Given the description of an element on the screen output the (x, y) to click on. 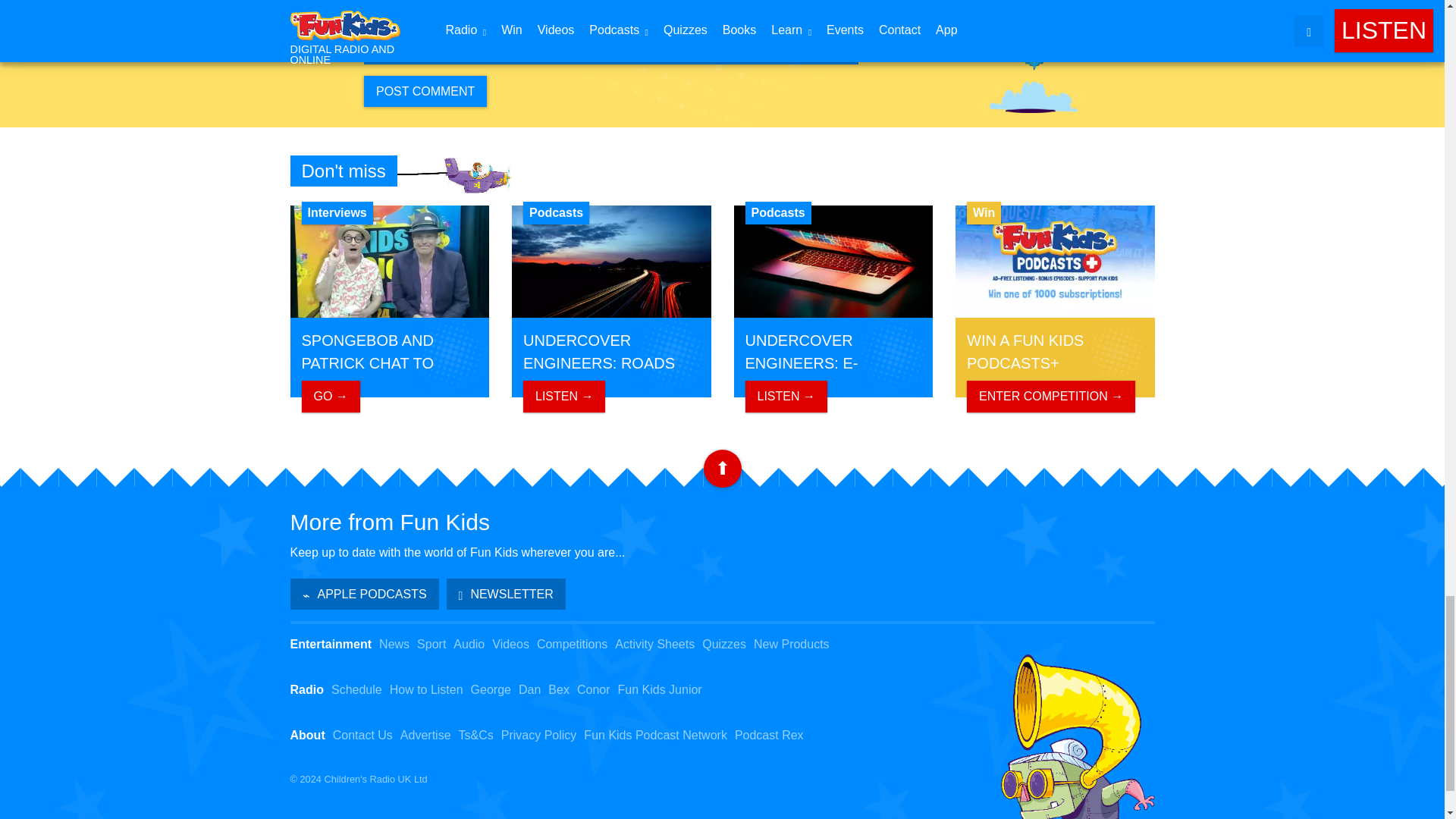
Post Comment (425, 91)
Back to top (722, 468)
